Given the description of an element on the screen output the (x, y) to click on. 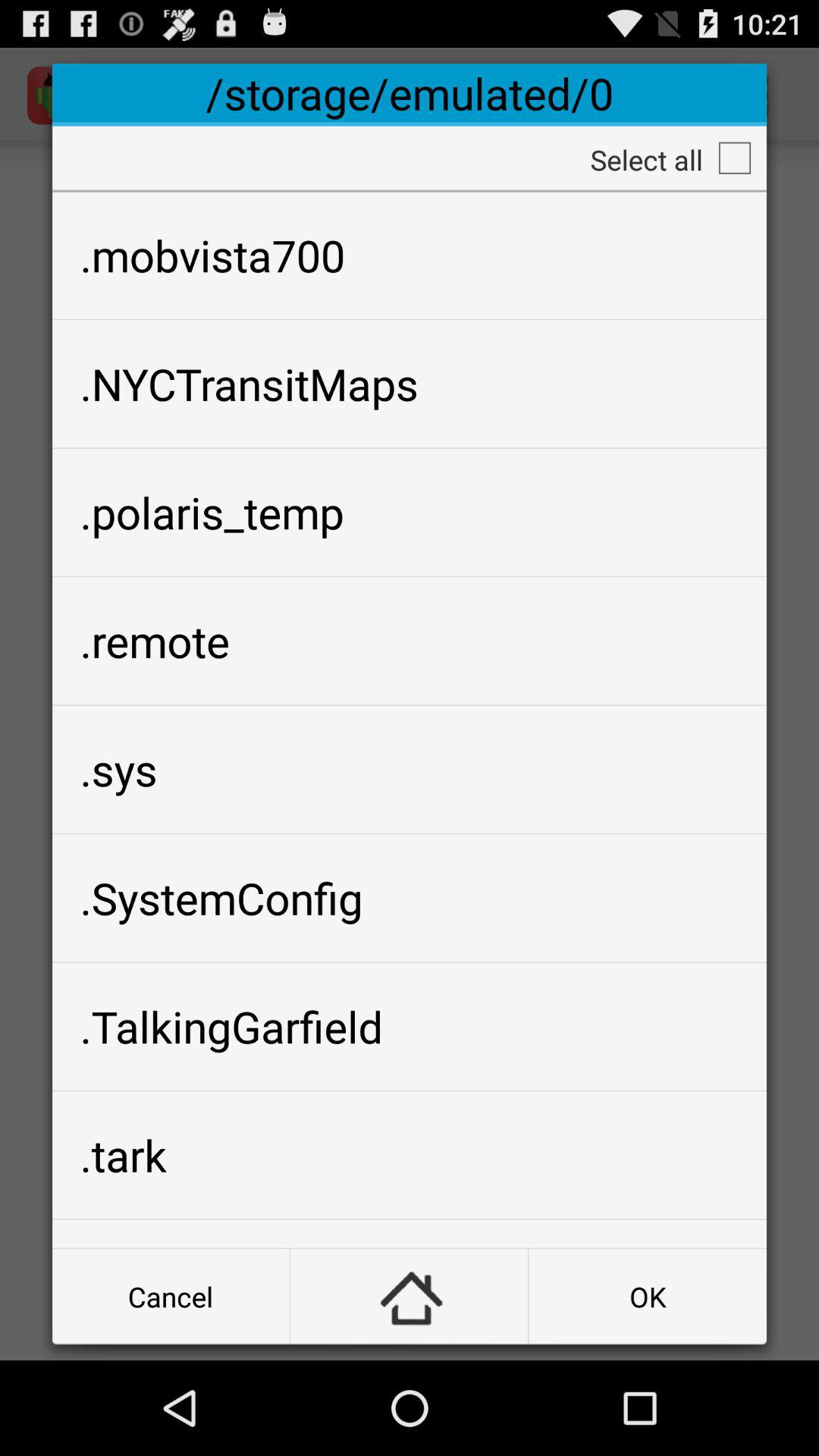
turn on icon below the .talkinggarfield icon (409, 1154)
